Given the description of an element on the screen output the (x, y) to click on. 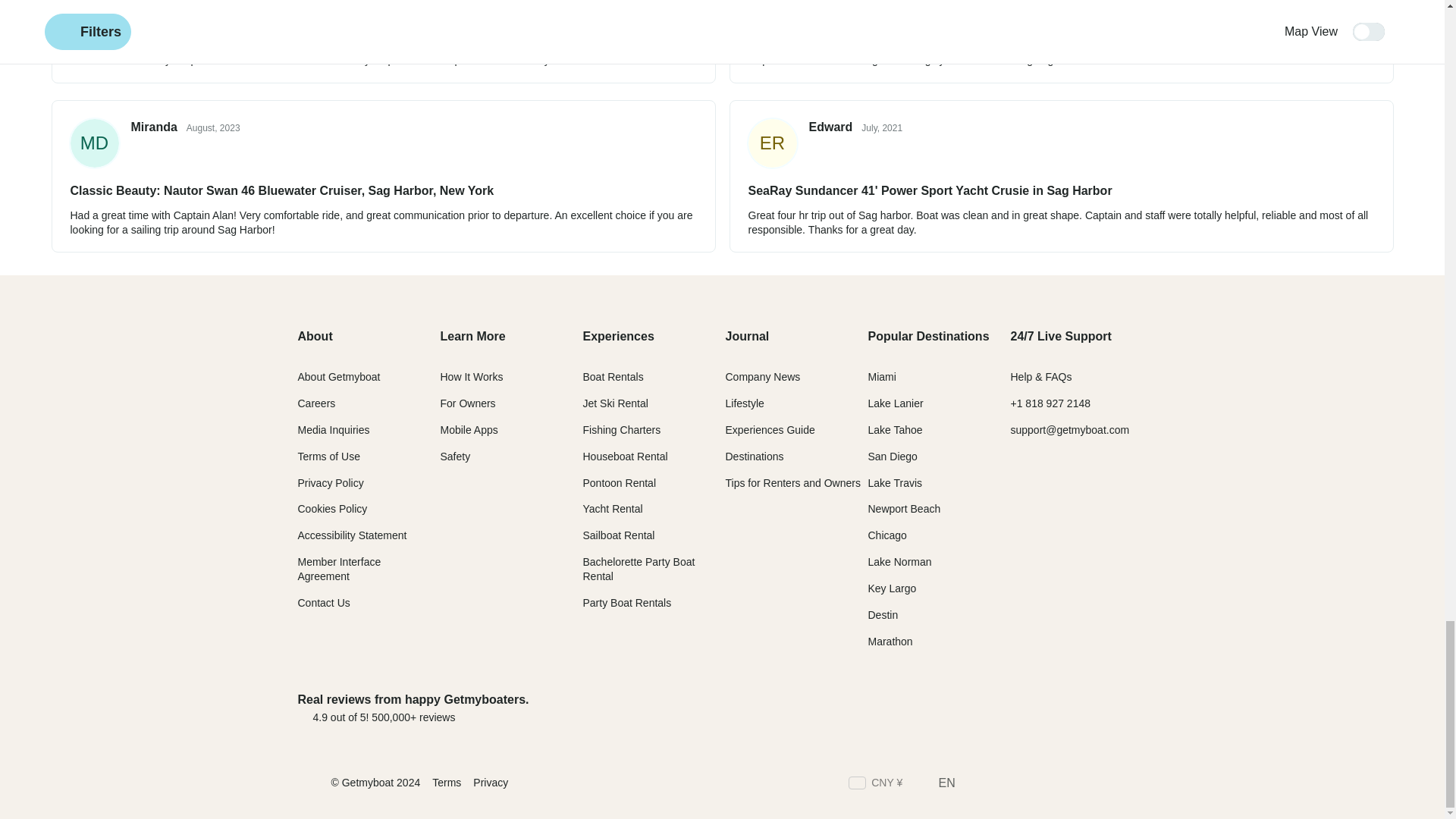
Instagram (1029, 784)
YouTube (1139, 784)
Pinterest (1111, 784)
Get it on Google Play (1096, 707)
Twitter (1002, 784)
Facebook (975, 784)
TikTok (1084, 784)
LinkedIn (1056, 784)
Download on the App Store (977, 707)
